Given the description of an element on the screen output the (x, y) to click on. 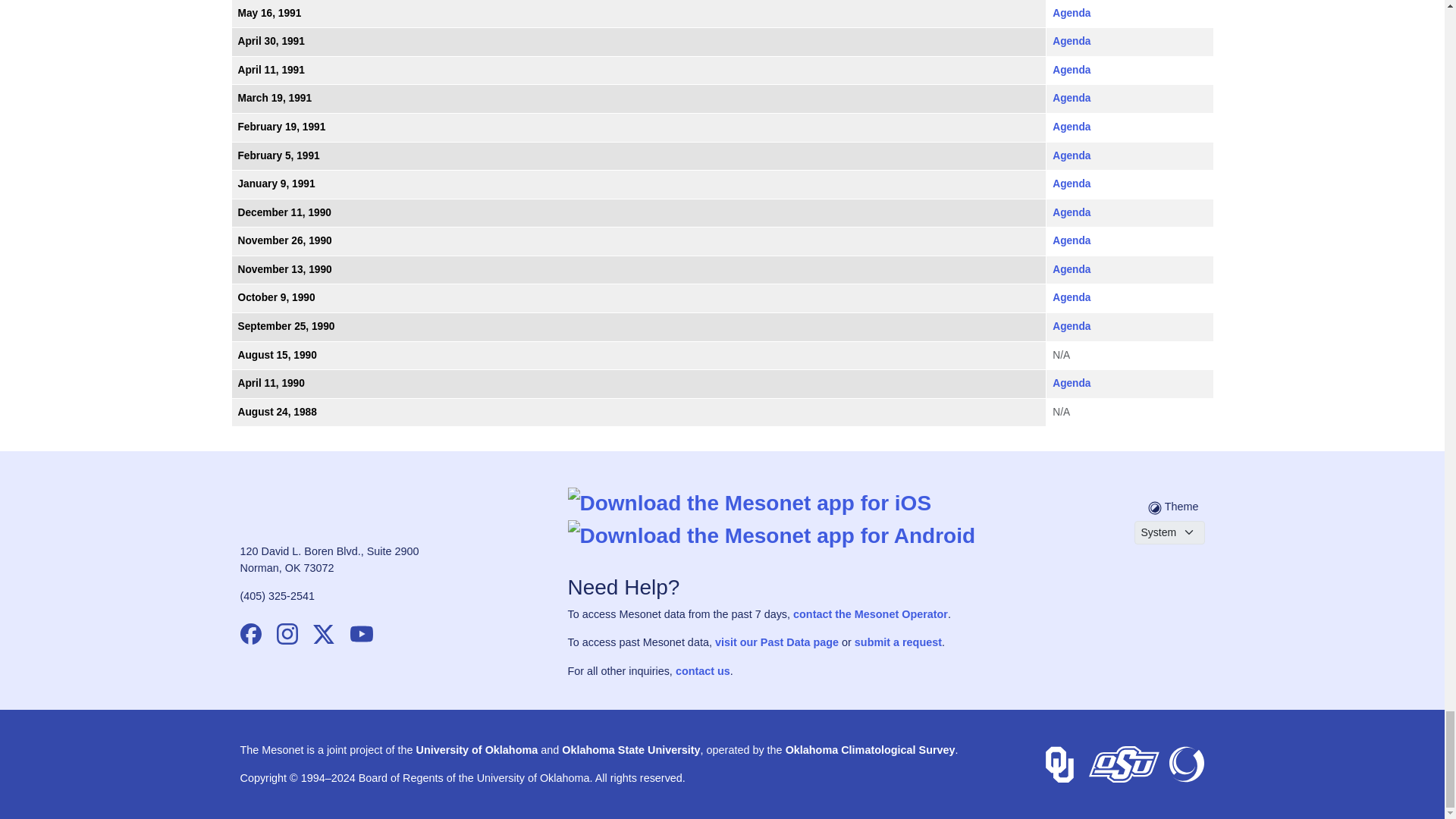
Oklahoma Climatological Survey (1185, 763)
The University of Oklahoma (1058, 763)
Oklahoma State University (1124, 763)
